Given the description of an element on the screen output the (x, y) to click on. 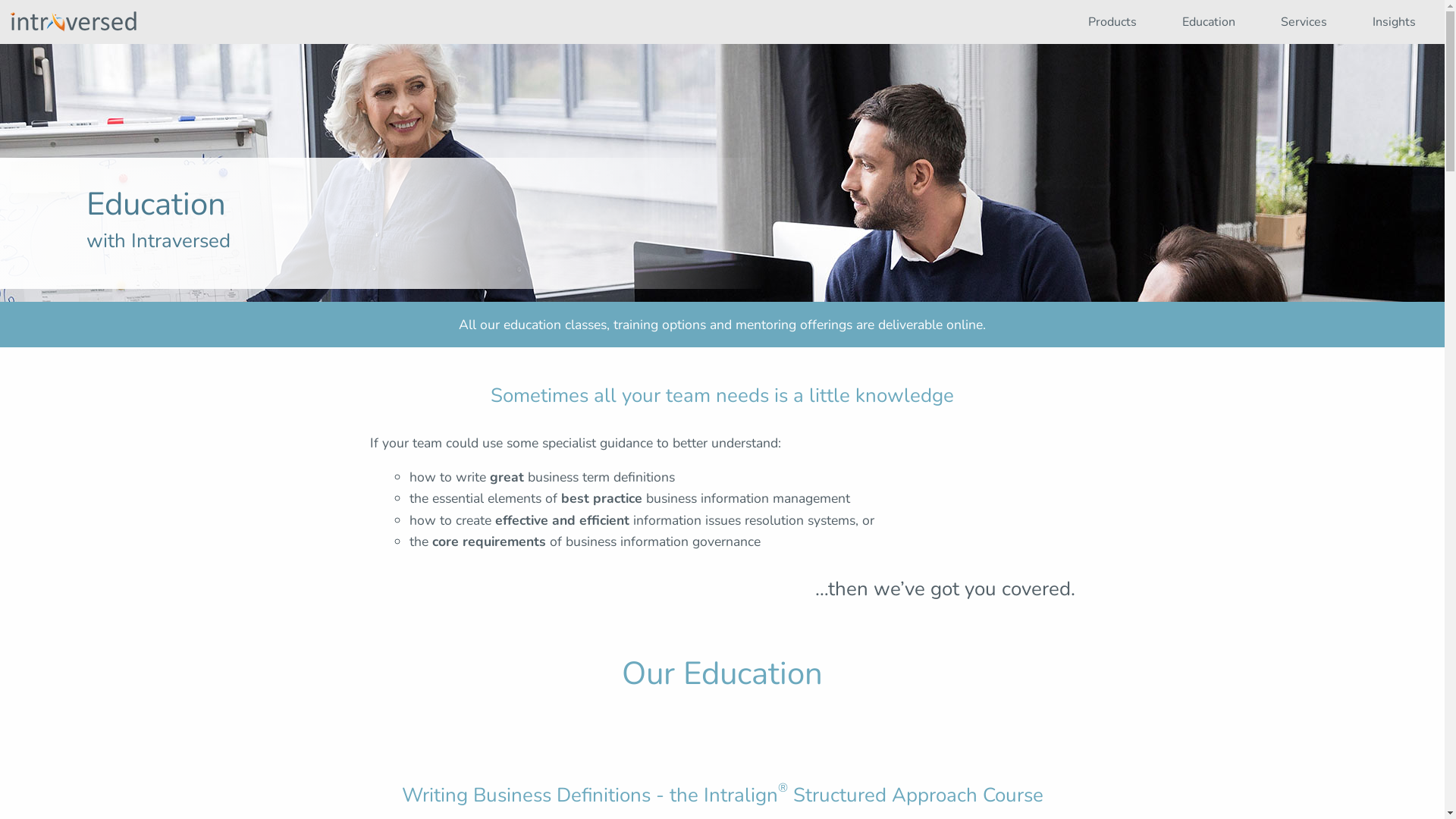
Insights Element type: text (1394, 21)
Products Element type: text (1112, 21)
Services Element type: text (1304, 21)
Insights Element type: text (1394, 21)
Products Element type: text (1112, 21)
Education Element type: text (1209, 21)
Education Element type: text (1208, 21)
Services Element type: text (1304, 21)
Intraversed Element type: hover (73, 22)
